Given the description of an element on the screen output the (x, y) to click on. 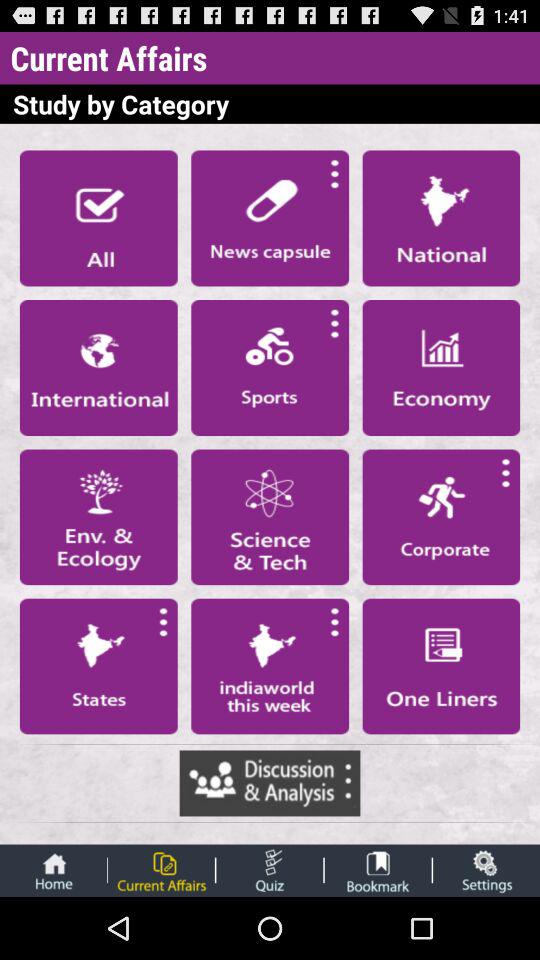
corporate ctegory option (441, 517)
